Given the description of an element on the screen output the (x, y) to click on. 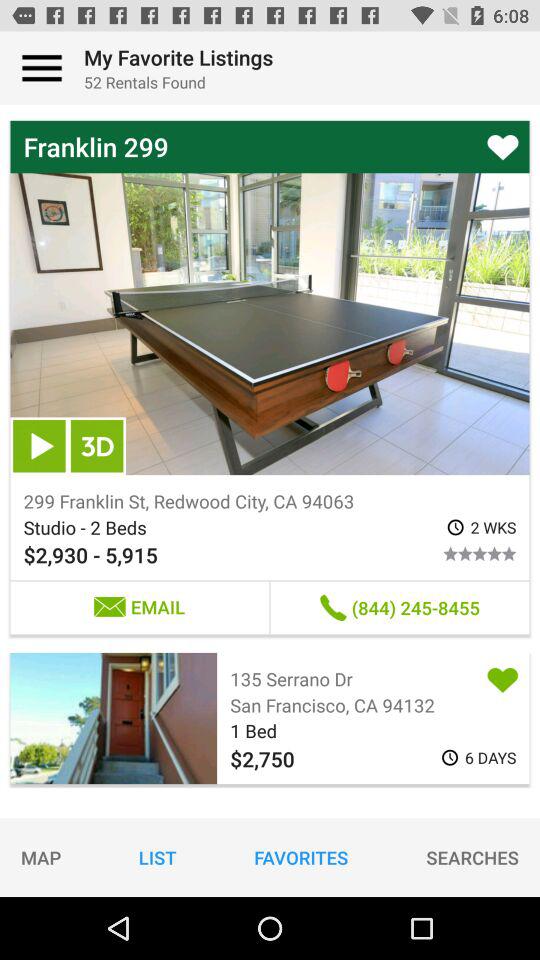
see menu (41, 68)
